Given the description of an element on the screen output the (x, y) to click on. 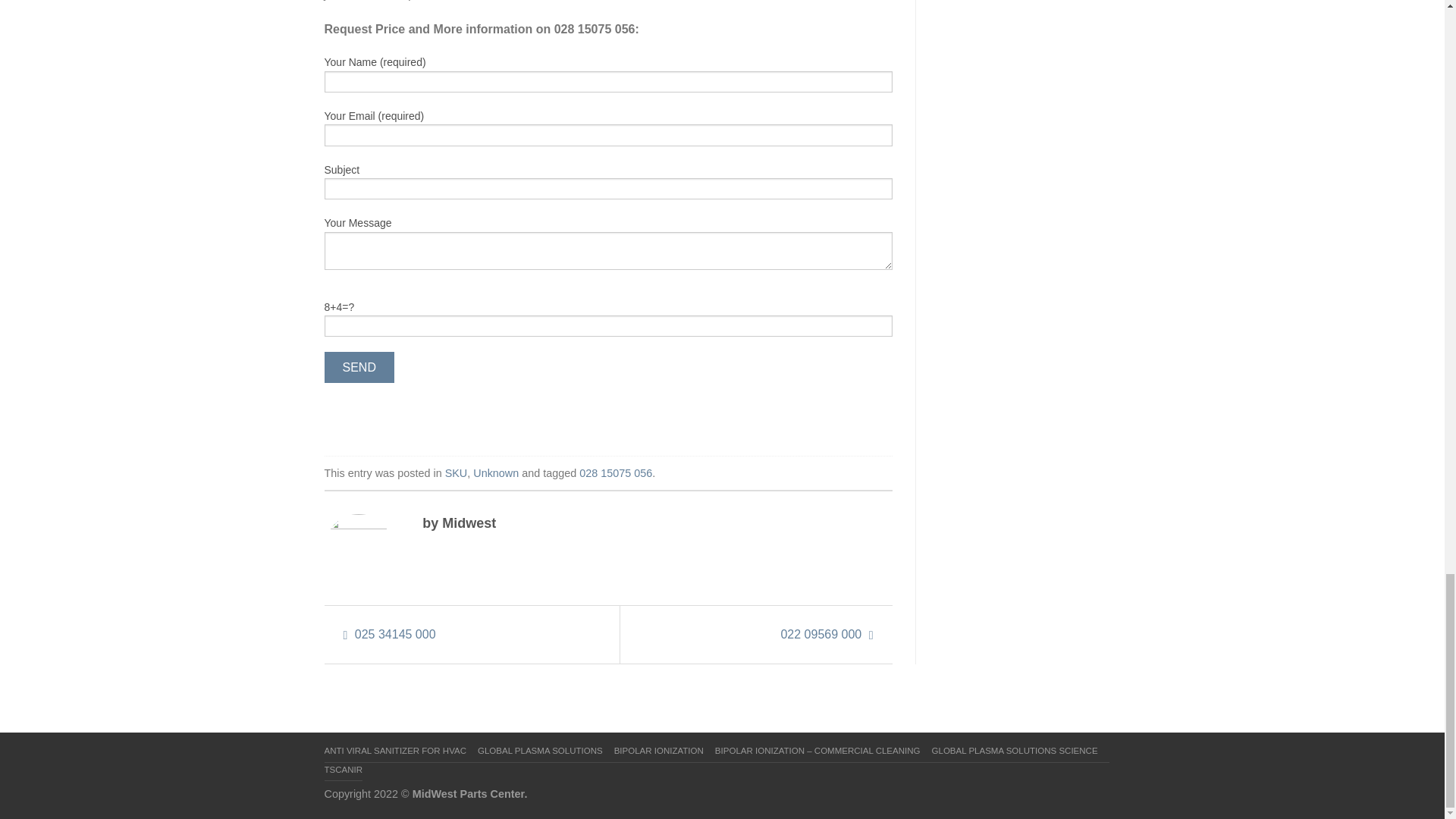
Send (359, 367)
